Given the description of an element on the screen output the (x, y) to click on. 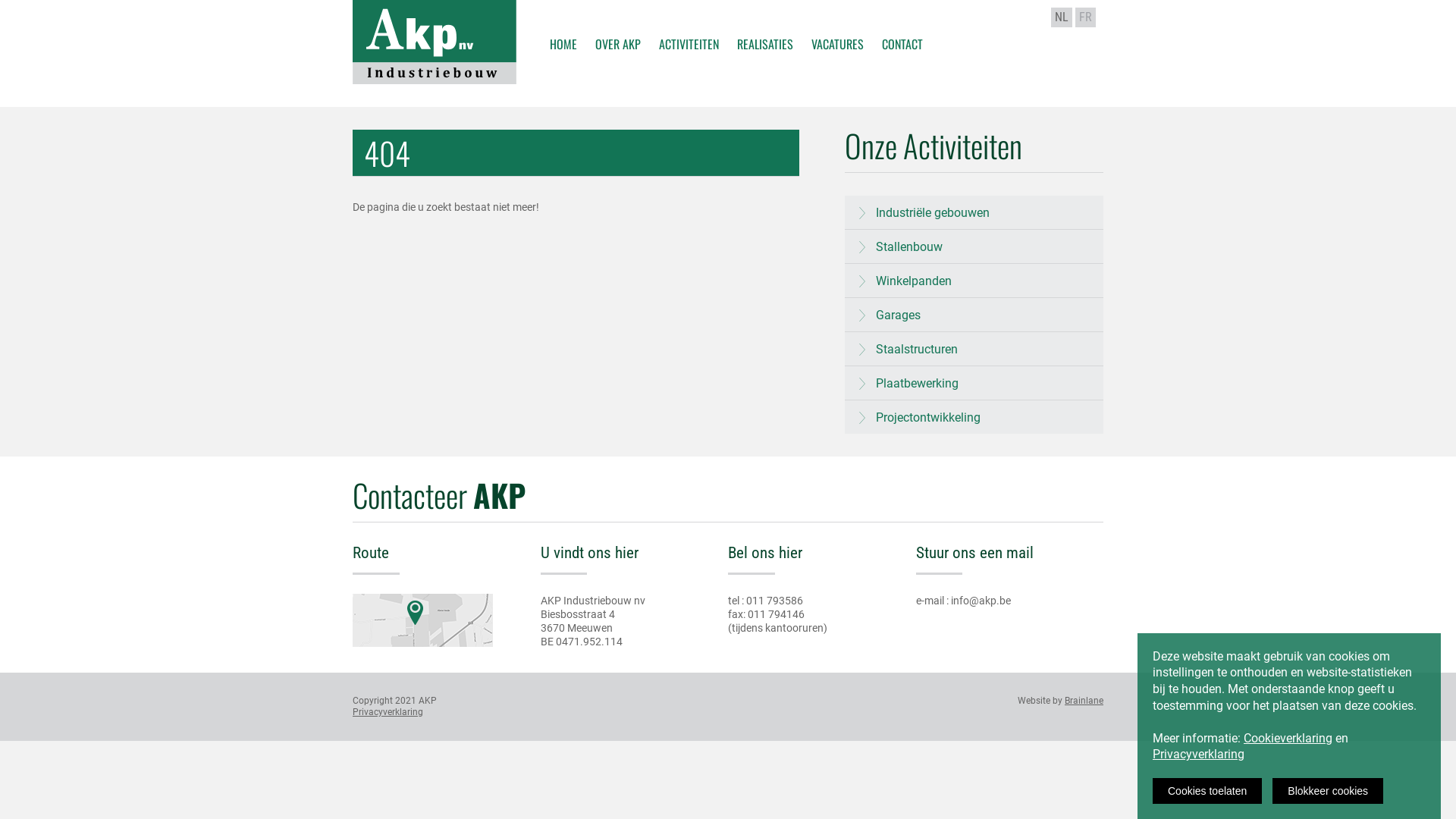
Brainlane Element type: text (1083, 700)
Privacyverklaring Element type: text (1198, 753)
Projectontwikkeling Element type: text (973, 416)
Garages Element type: text (973, 315)
Cookieverklaring Element type: text (1287, 738)
Staalstructuren Element type: text (973, 349)
Plaatbewerking Element type: text (973, 383)
Privacyverklaring Element type: text (387, 711)
Stallenbouw Element type: text (973, 246)
Blokkeer cookies Element type: text (1327, 790)
Winkelpanden Element type: text (973, 280)
Cookies toelaten Element type: text (1206, 790)
NL Element type: text (1061, 17)
REALISATIES Element type: text (765, 25)
HOME Element type: text (562, 25)
ACTIVITEITEN Element type: text (688, 25)
FR Element type: text (1085, 17)
CONTACT Element type: text (901, 25)
OVER AKP Element type: text (617, 25)
VACATURES Element type: text (837, 25)
